Given the description of an element on the screen output the (x, y) to click on. 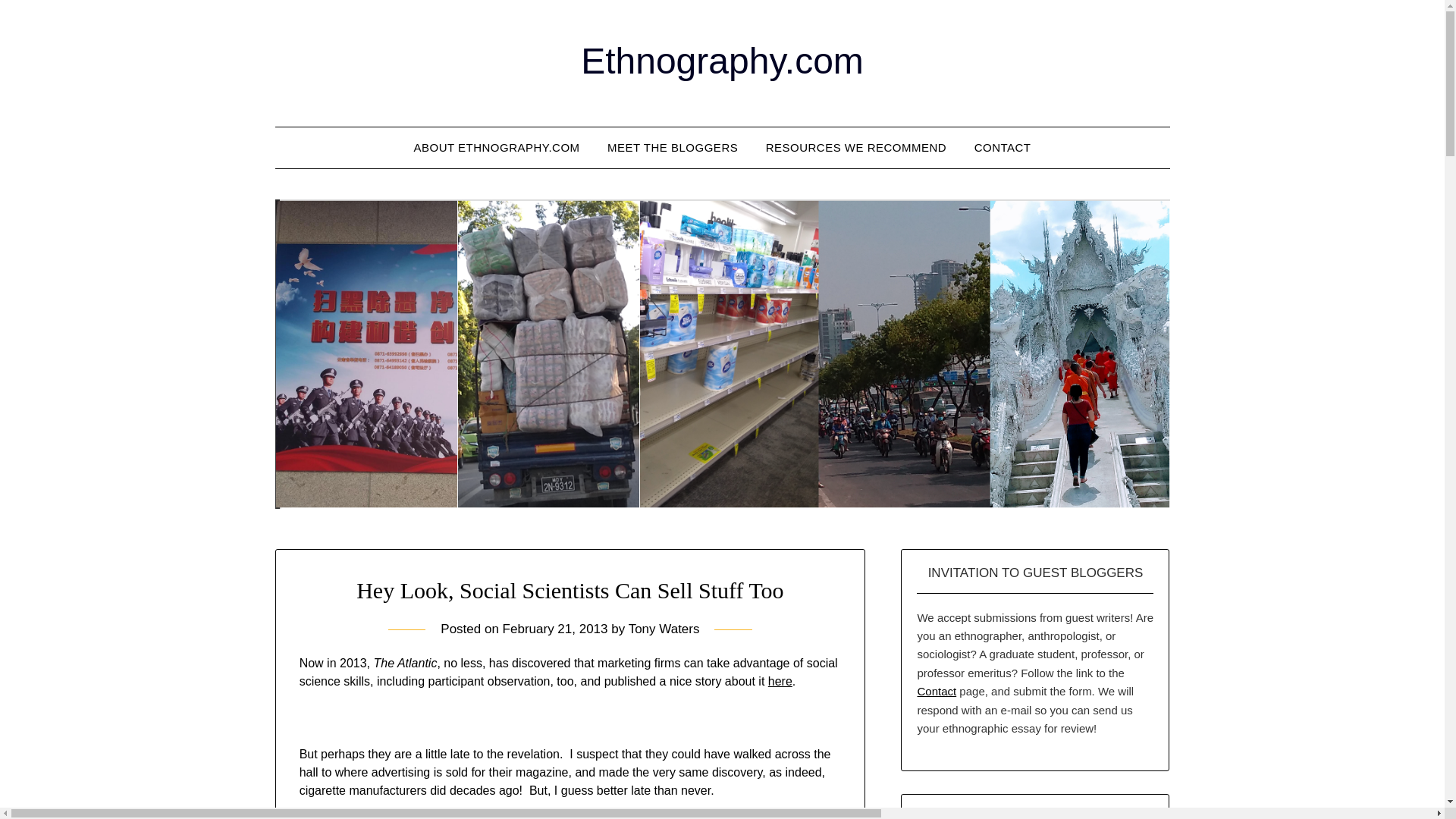
MEET THE BLOGGERS (672, 147)
Ethnography.com (721, 60)
here (780, 680)
Contact (936, 690)
RESOURCES WE RECOMMEND (856, 147)
ABOUT ETHNOGRAPHY.COM (496, 147)
CONTACT (1002, 147)
Search (38, 22)
Tony Waters (664, 628)
February 21, 2013 (555, 628)
